Given the description of an element on the screen output the (x, y) to click on. 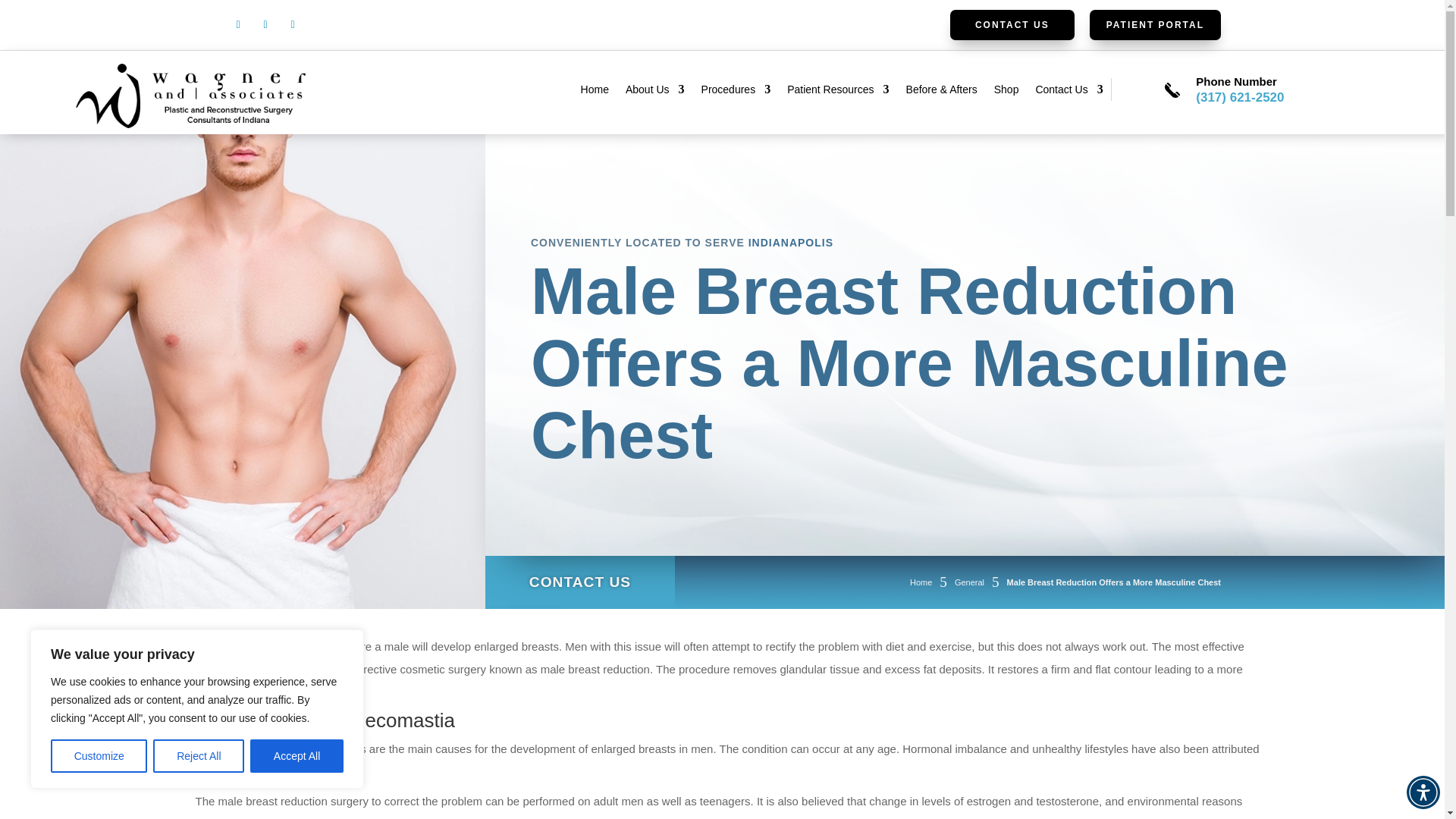
About Us (655, 92)
Reject All (198, 756)
Accept All (296, 756)
Procedures (736, 92)
Customize (98, 756)
Follow on Facebook (237, 25)
Home (594, 92)
Wagner and Associates Plastic and Reconstructive Surgery (190, 95)
Accessibility Menu (1422, 792)
Follow on Instagram (265, 25)
